Given the description of an element on the screen output the (x, y) to click on. 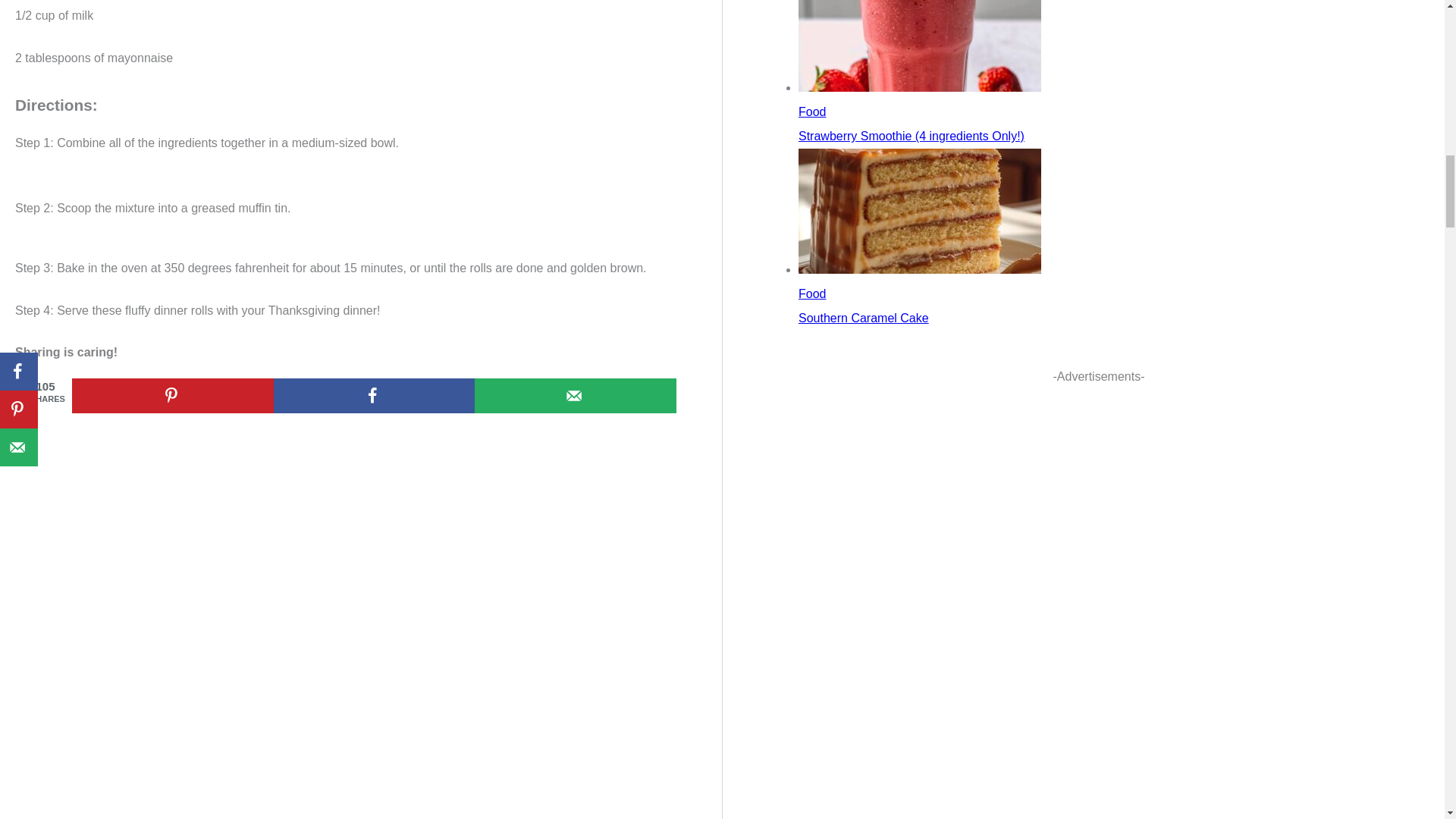
Share on Facebook (374, 395)
Save to Pinterest (172, 395)
Send over email (575, 395)
